Given the description of an element on the screen output the (x, y) to click on. 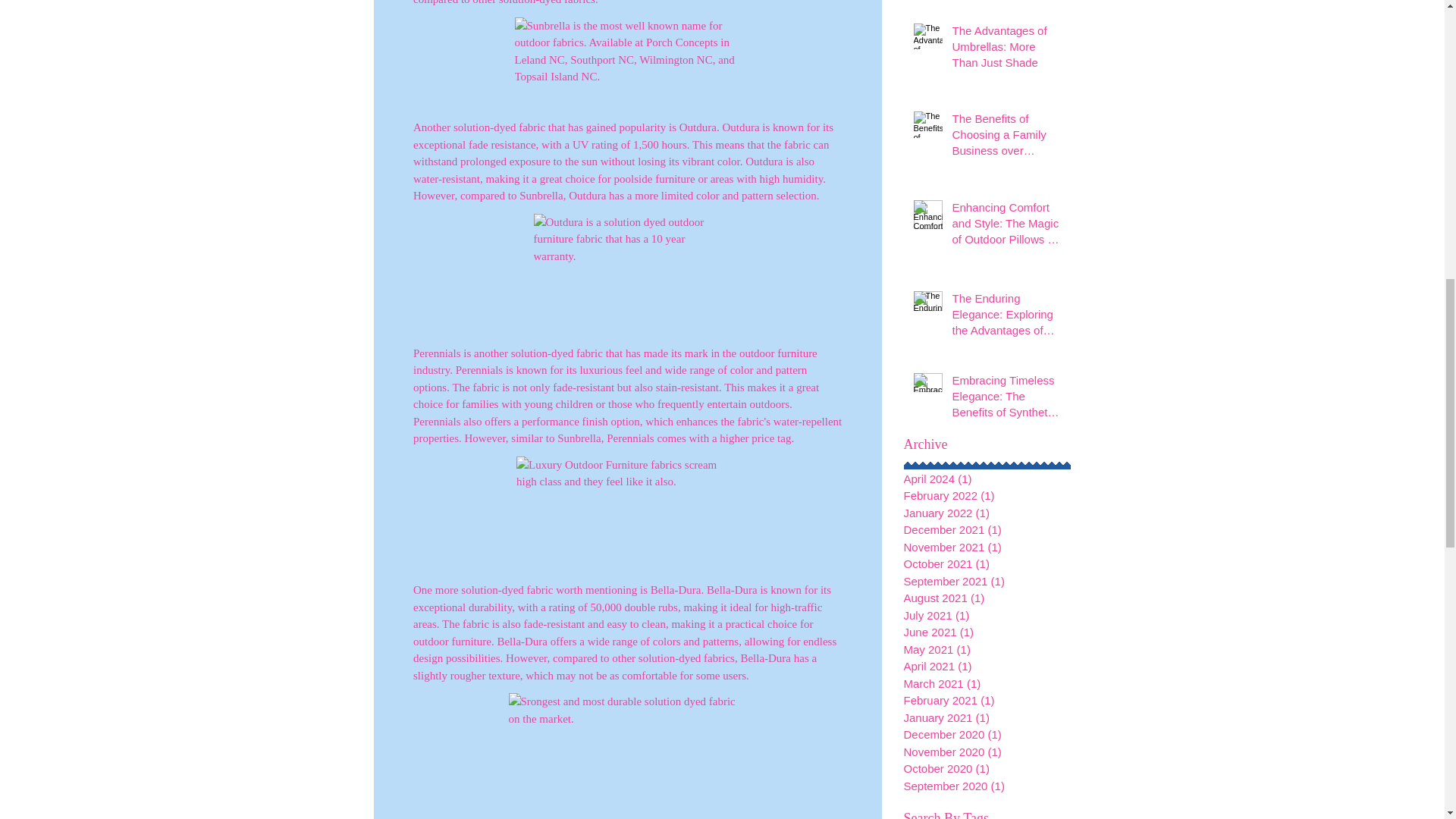
The Advantages of Umbrellas: More Than Just Shade (1006, 49)
